Given the description of an element on the screen output the (x, y) to click on. 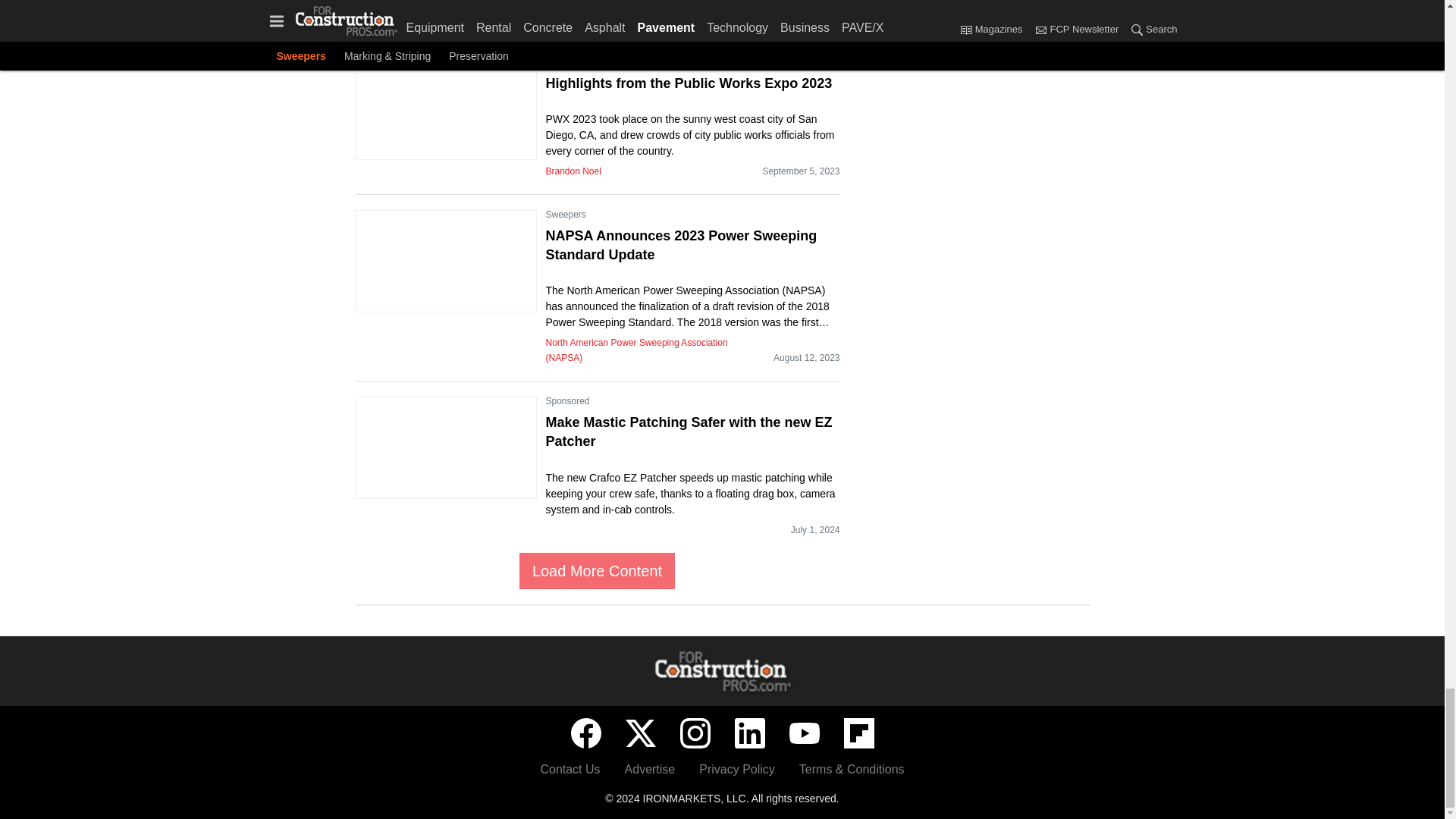
YouTube icon (803, 733)
Instagram icon (694, 733)
LinkedIn icon (748, 733)
Facebook icon (584, 733)
Flipboard icon (858, 733)
Twitter X icon (639, 733)
